Given the description of an element on the screen output the (x, y) to click on. 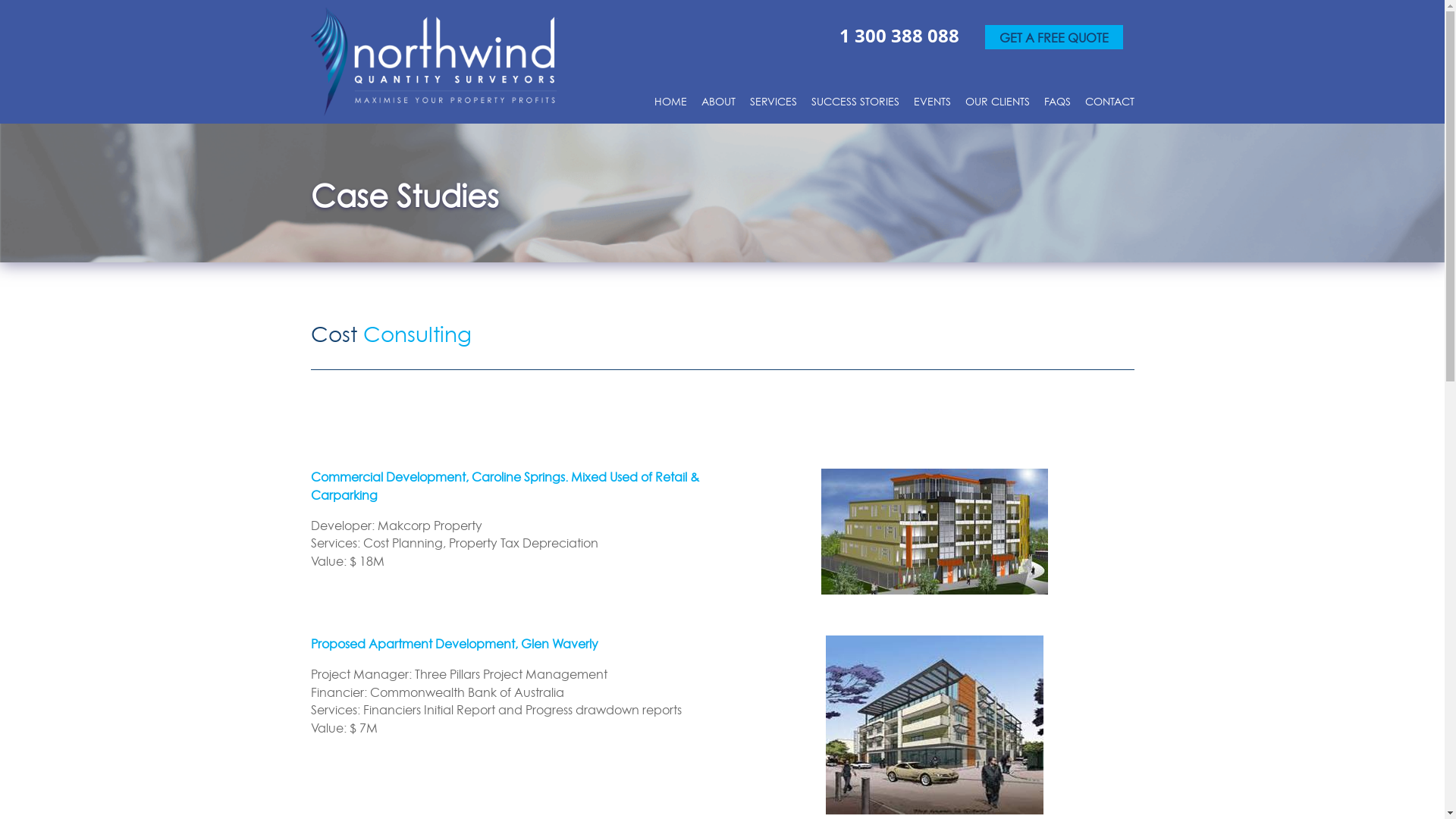
GET A FREE QUOTE Element type: text (1053, 37)
SERVICES Element type: text (772, 107)
ABOUT Element type: text (717, 107)
HOME Element type: text (669, 107)
SUCCESS STORIES Element type: text (855, 107)
OUR CLIENTS Element type: text (996, 107)
EVENTS Element type: text (931, 107)
FAQS Element type: text (1056, 107)
CONTACT Element type: text (1108, 107)
